Given the description of an element on the screen output the (x, y) to click on. 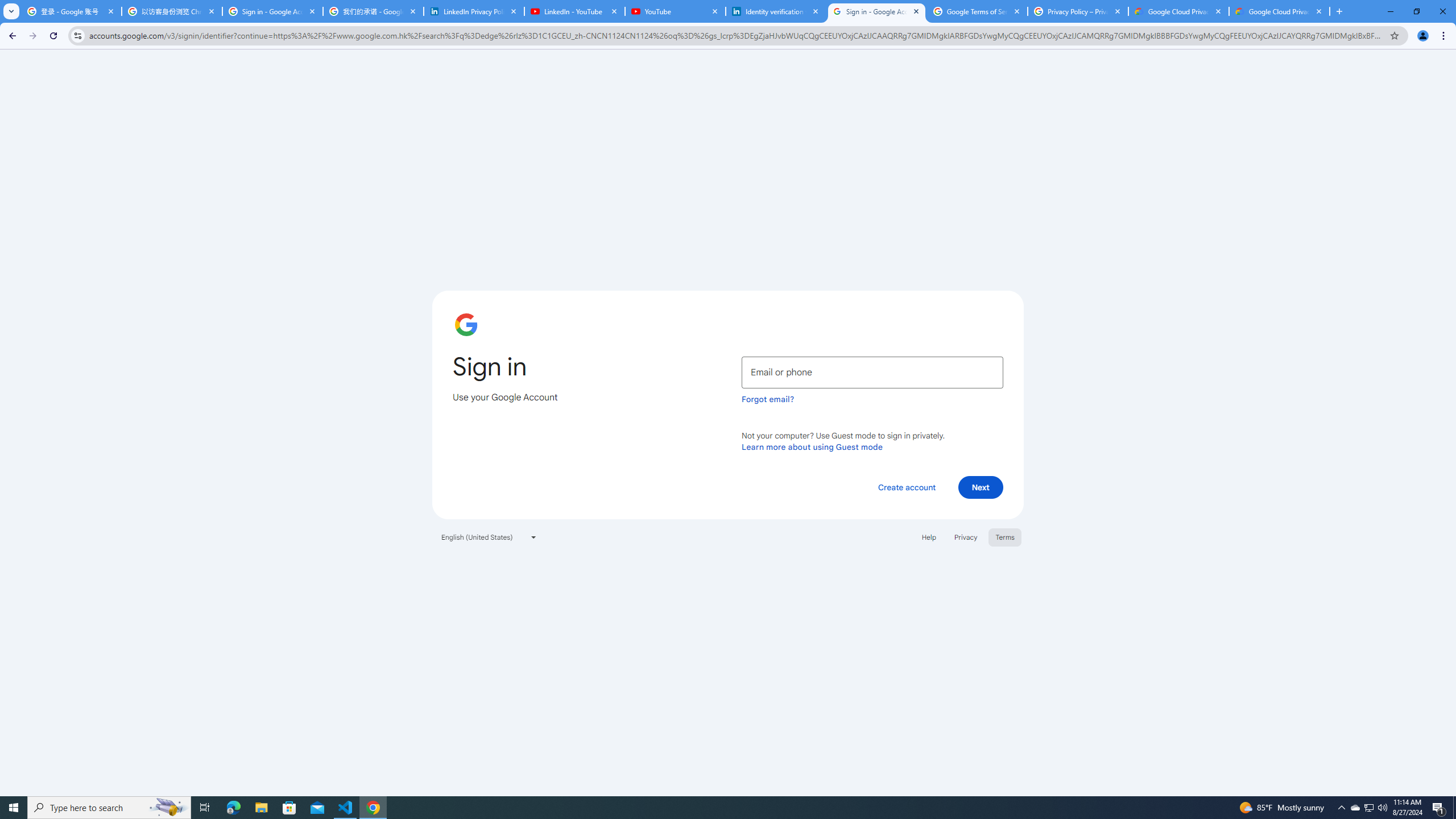
Google Cloud Privacy Notice (1279, 11)
YouTube (675, 11)
Learn more about using Guest mode (812, 446)
Create account (905, 486)
